Given the description of an element on the screen output the (x, y) to click on. 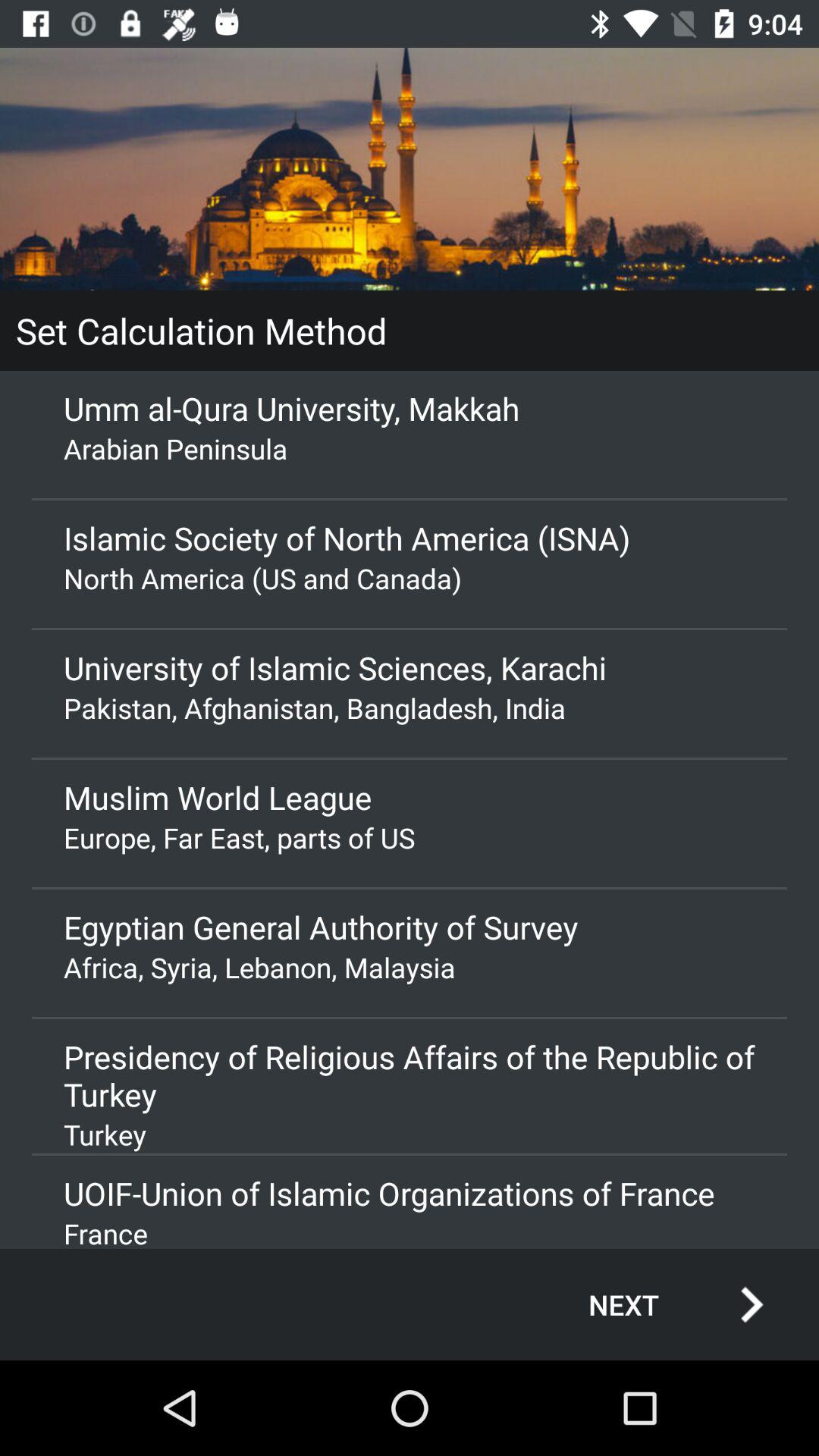
launch the icon above the europe far east app (409, 797)
